Given the description of an element on the screen output the (x, y) to click on. 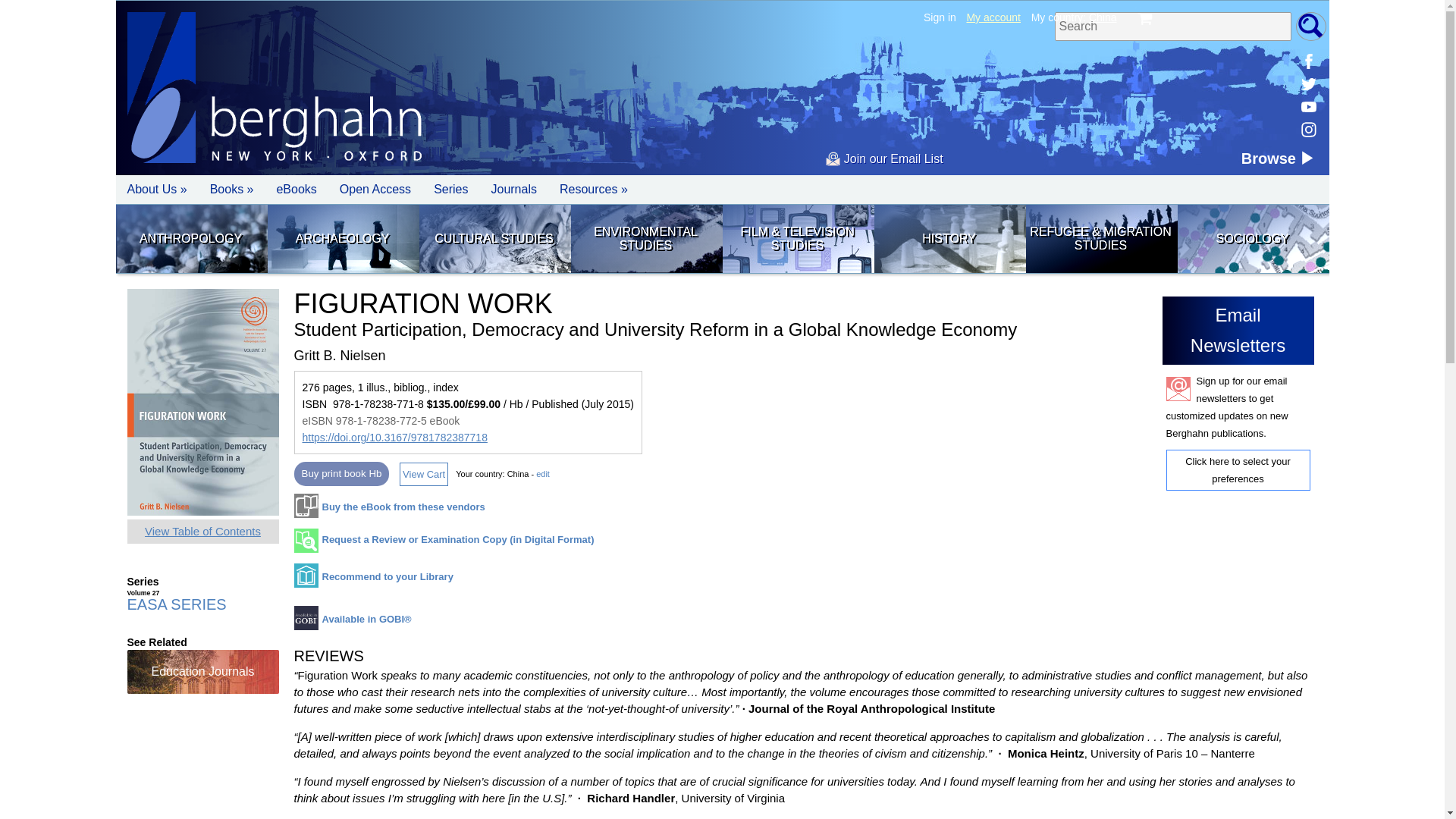
Berghahn Books on Twitter (1308, 83)
Join our Email List (883, 158)
go (1310, 26)
education Journals (203, 670)
go (1310, 26)
Browse (1278, 158)
Sociology (1251, 238)
Cultural Studies (494, 238)
Berghahn Books on Facebook (1308, 60)
Berghahn Books on Instagram (1308, 128)
Environmental Studies (645, 238)
Film Studies (797, 238)
Archaeology (341, 238)
History (948, 238)
Anthropology (189, 238)
